Given the description of an element on the screen output the (x, y) to click on. 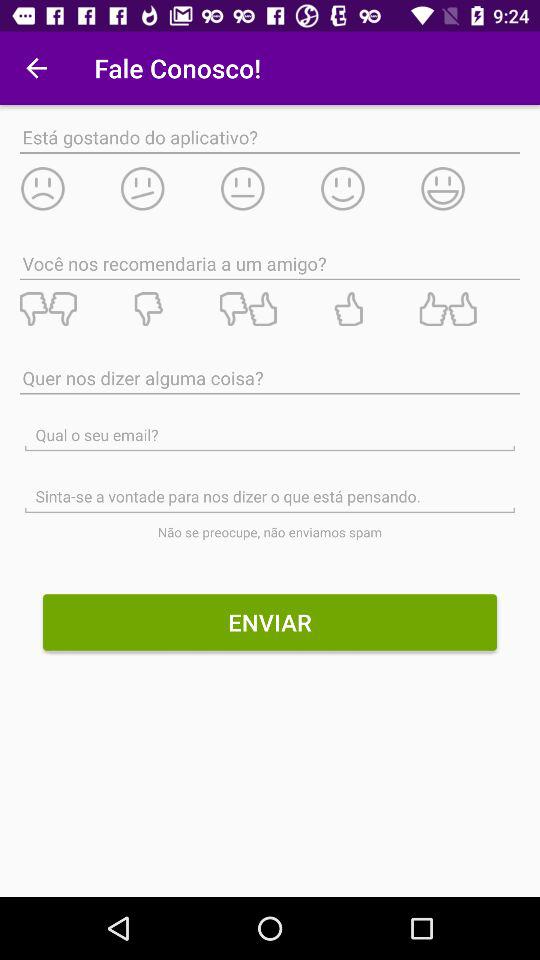
neither like nor dislike (269, 309)
